Given the description of an element on the screen output the (x, y) to click on. 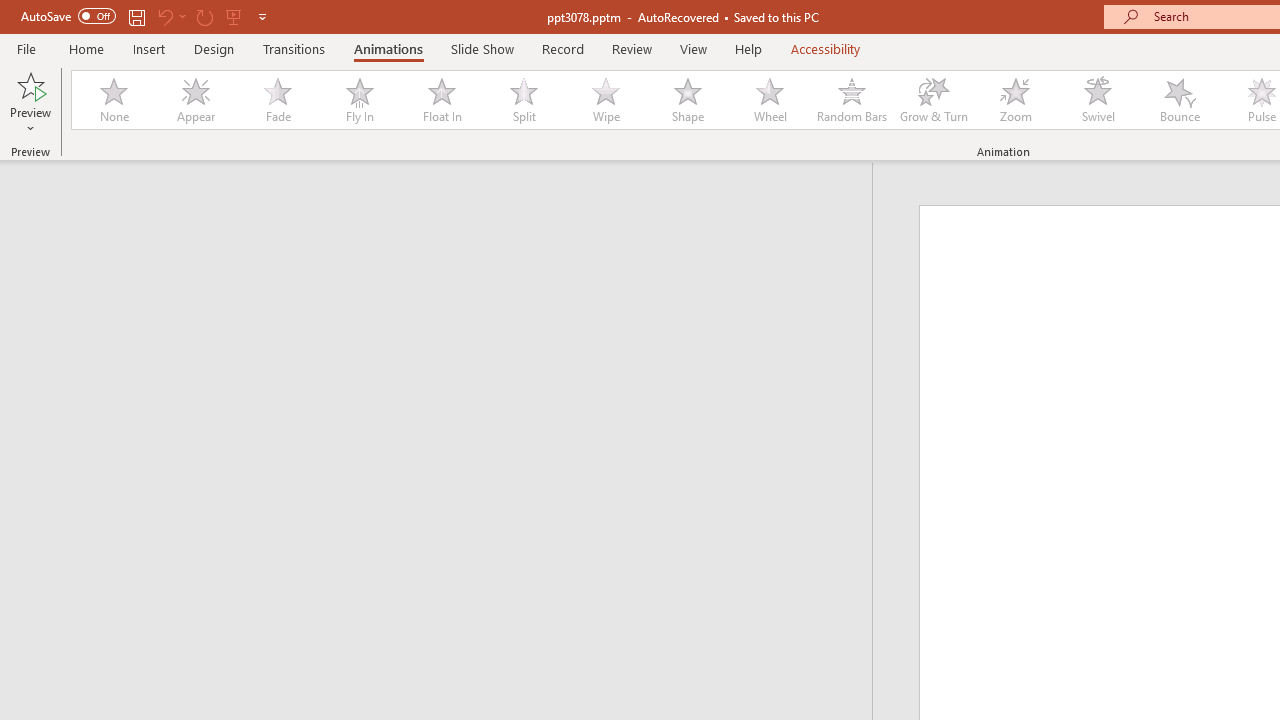
Wheel (770, 100)
None (113, 100)
Appear (195, 100)
Bounce (1180, 100)
Swivel (1098, 100)
